Given the description of an element on the screen output the (x, y) to click on. 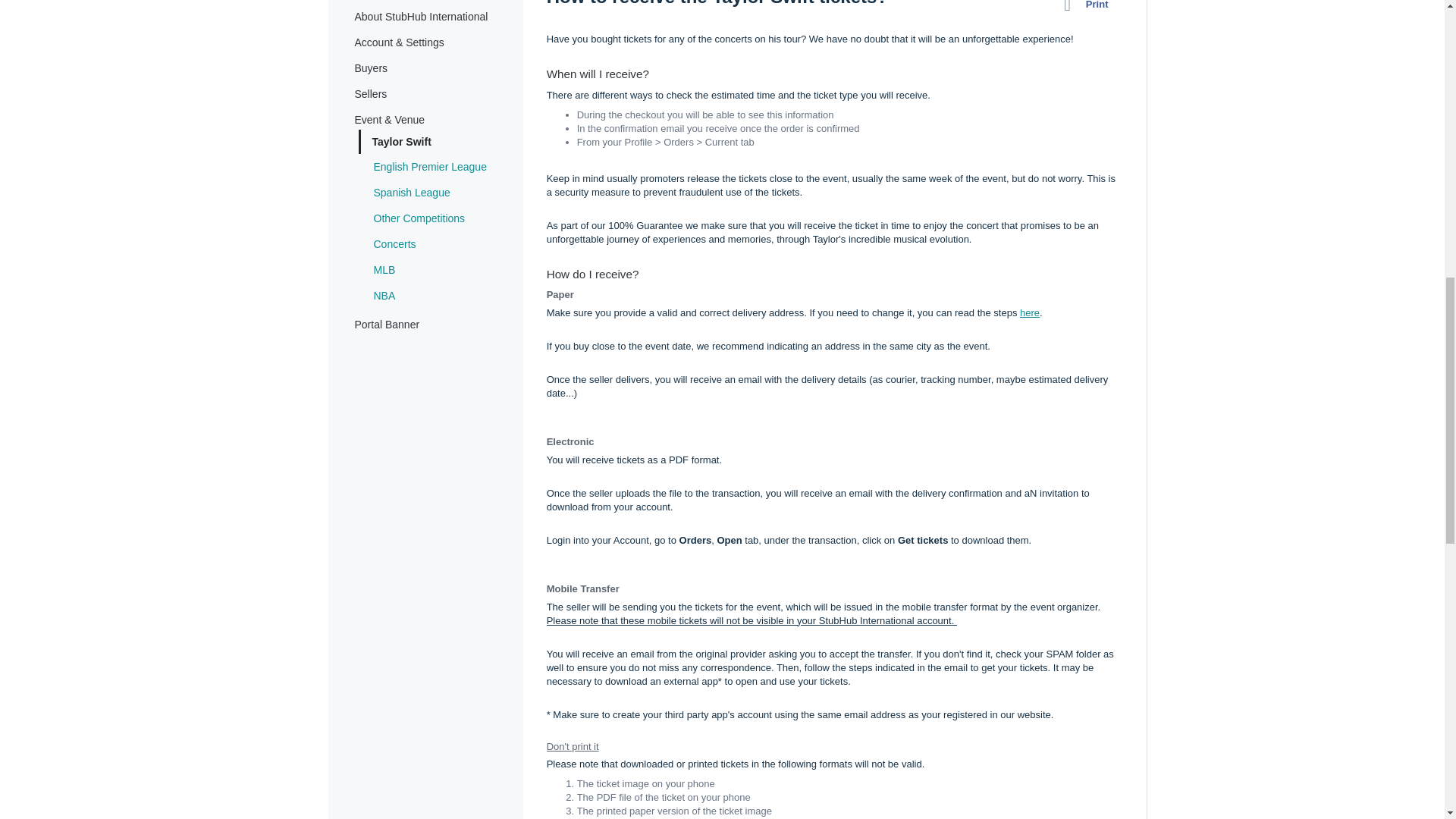
Other Competitions (418, 218)
Taylor Swift (400, 141)
Concerts (393, 244)
Print this Article (1089, 7)
Spanish League (410, 192)
MLB (383, 269)
English Premier League (429, 166)
